Given the description of an element on the screen output the (x, y) to click on. 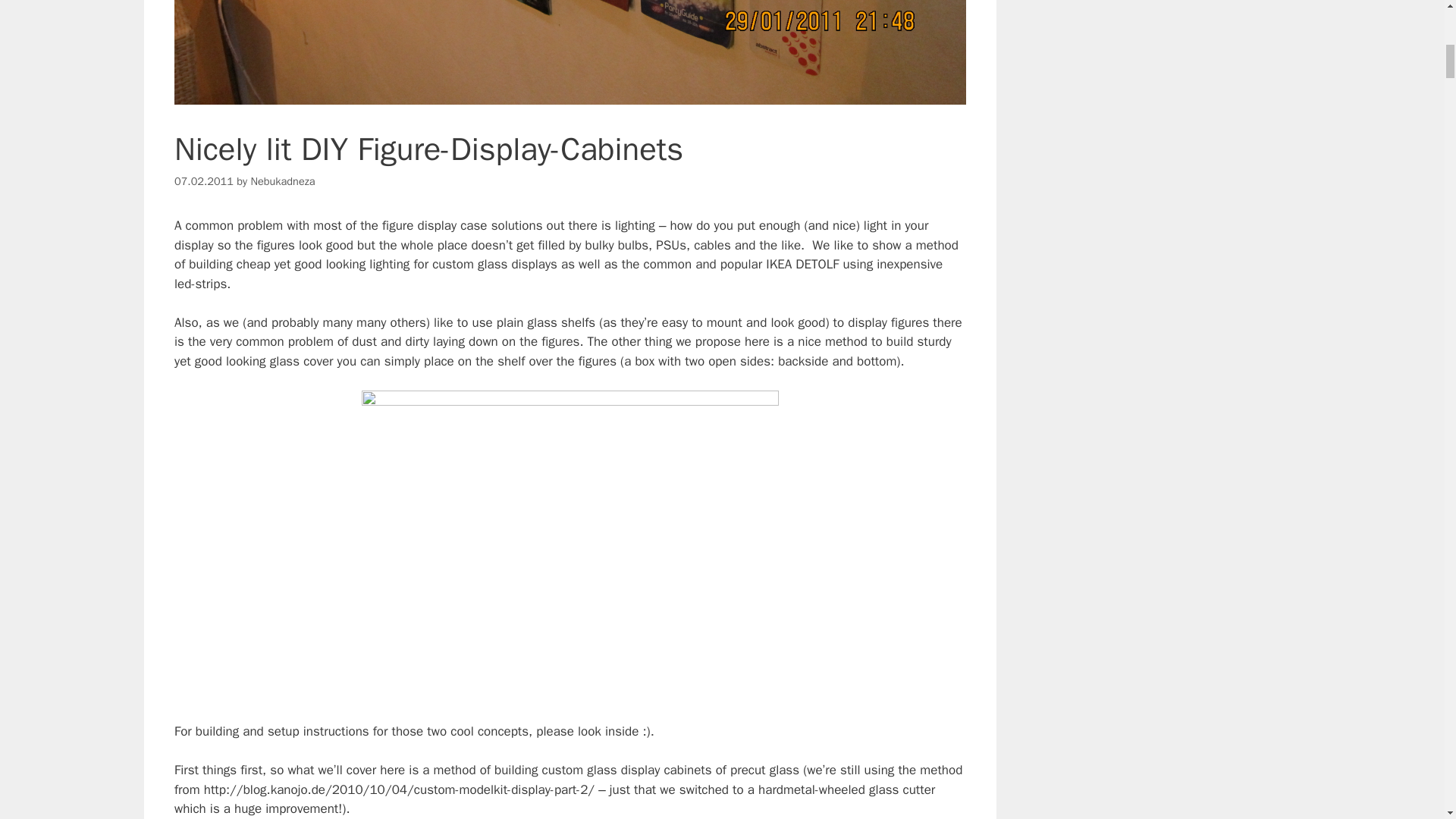
View all posts by Nebukadneza (282, 181)
Scroll back to top (1406, 720)
Nebukadneza (282, 181)
